Given the description of an element on the screen output the (x, y) to click on. 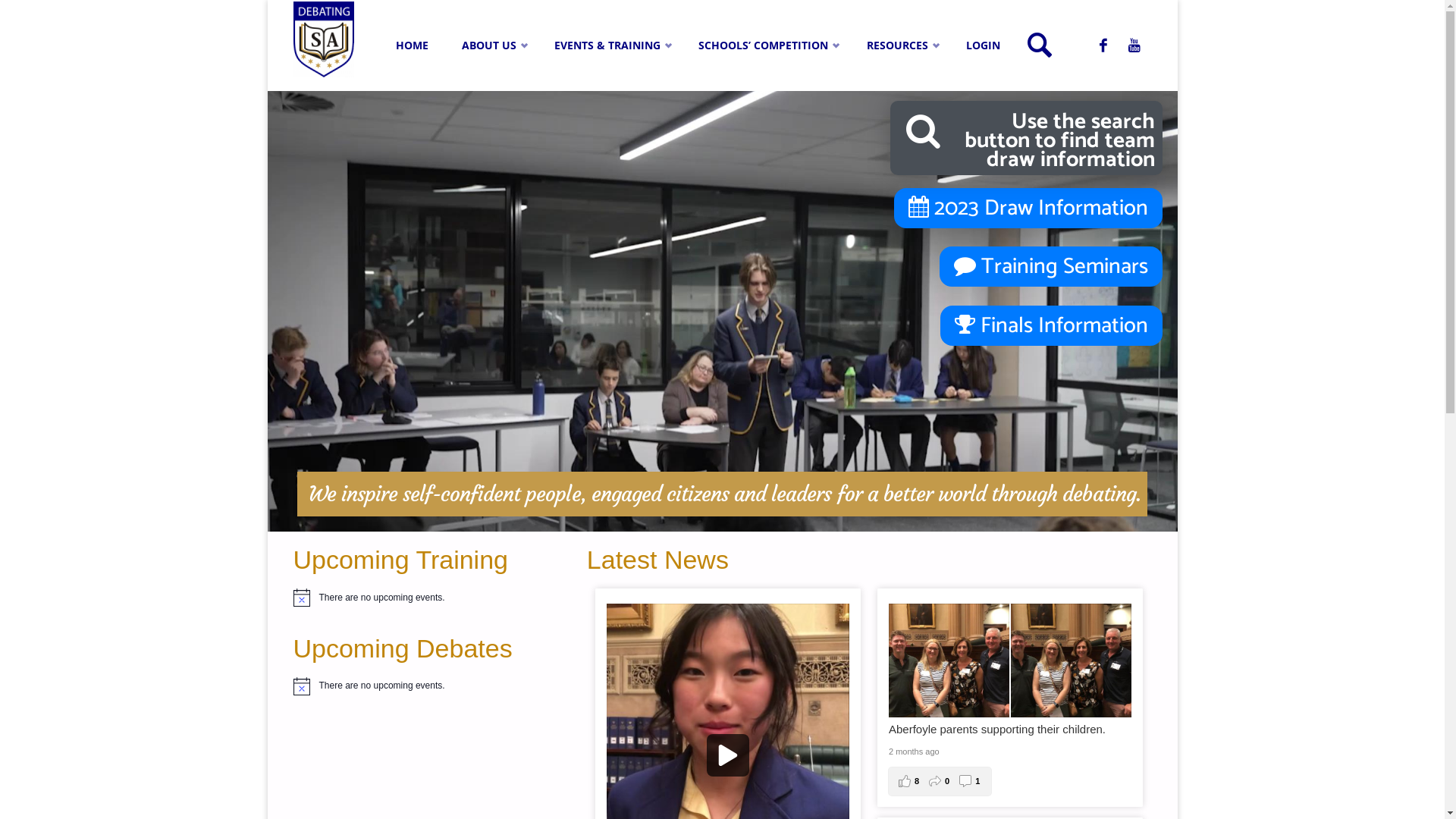
Debating SA on Facebook Element type: hover (1102, 45)
View Comments
Likes:
8
Shares:
0
Comments:
1 Element type: text (939, 781)
HOME Element type: text (412, 45)
ABOUT US Element type: text (491, 45)
EVENTS & TRAINING Element type: text (609, 45)
RESOURCES Element type: text (899, 45)
Training Seminars Element type: text (1049, 266)
Debating SA YouTube Channel Element type: hover (1134, 45)
Debating SA Incorporated Element type: hover (322, 38)
LOGIN Element type: text (982, 45)
SEARCH Element type: text (1039, 45)
Finals Information Element type: text (1051, 325)
2023 Draw Information Element type: text (1027, 208)
